Given the description of an element on the screen output the (x, y) to click on. 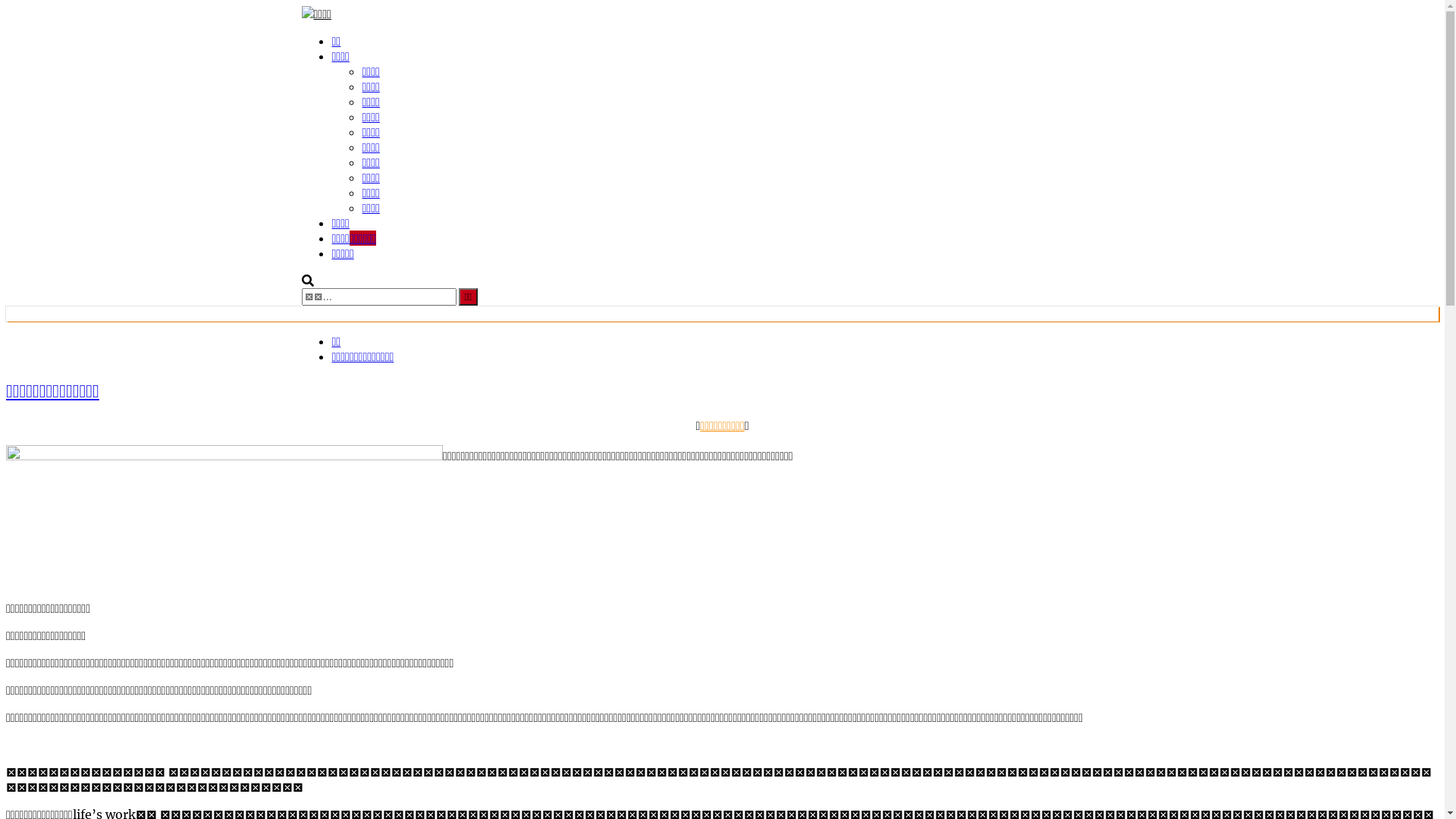
s877 Element type: hover (224, 516)
